Given the description of an element on the screen output the (x, y) to click on. 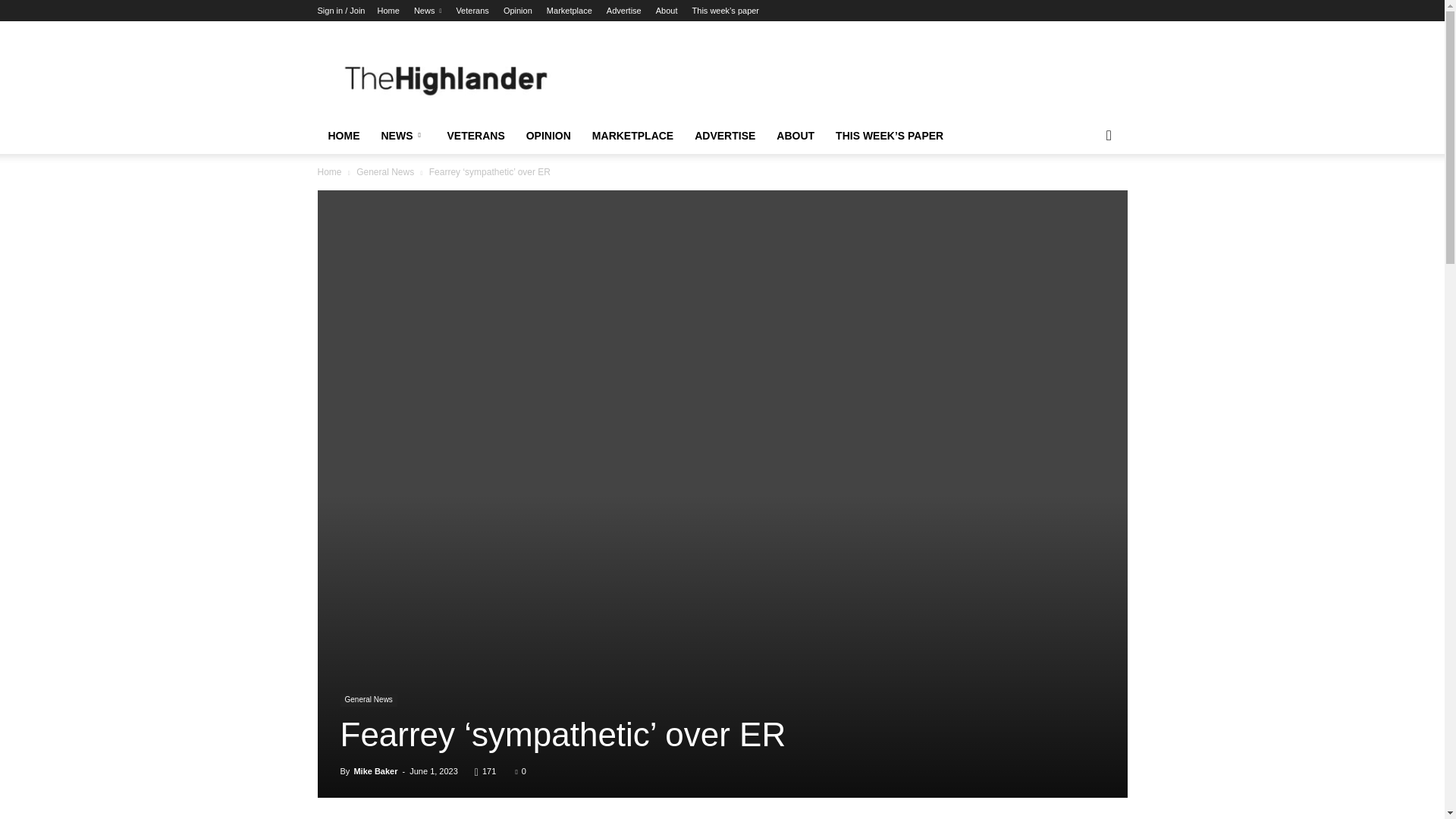
About (667, 10)
NEWS (402, 135)
Home (387, 10)
View all posts in General News (384, 172)
HOME (343, 135)
News (427, 10)
Veterans (471, 10)
Opinion (517, 10)
Advertise (624, 10)
Marketplace (569, 10)
